Given the description of an element on the screen output the (x, y) to click on. 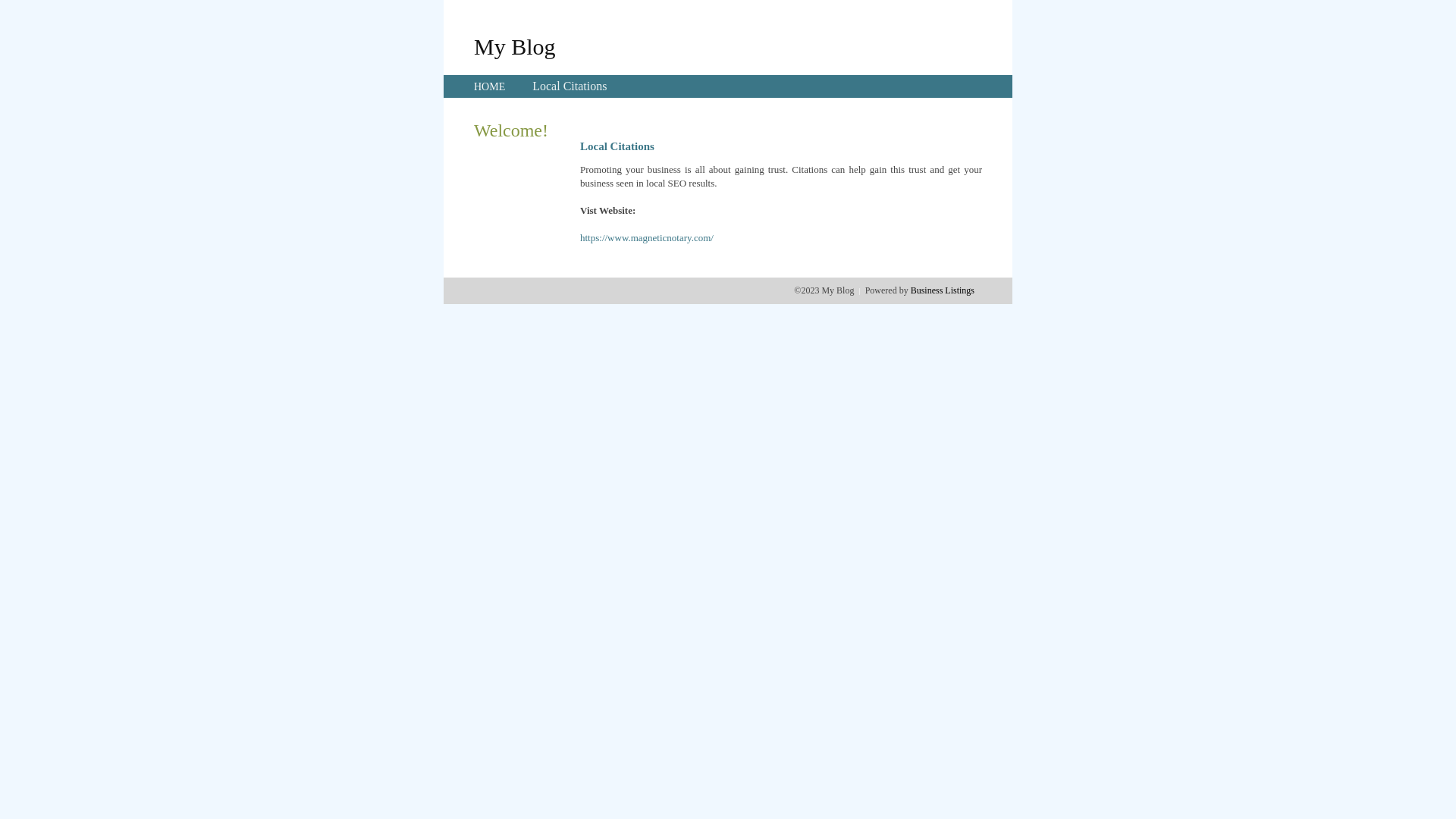
Local Citations Element type: text (569, 85)
HOME Element type: text (489, 86)
Business Listings Element type: text (942, 290)
My Blog Element type: text (514, 46)
https://www.magneticnotary.com/ Element type: text (646, 237)
